Given the description of an element on the screen output the (x, y) to click on. 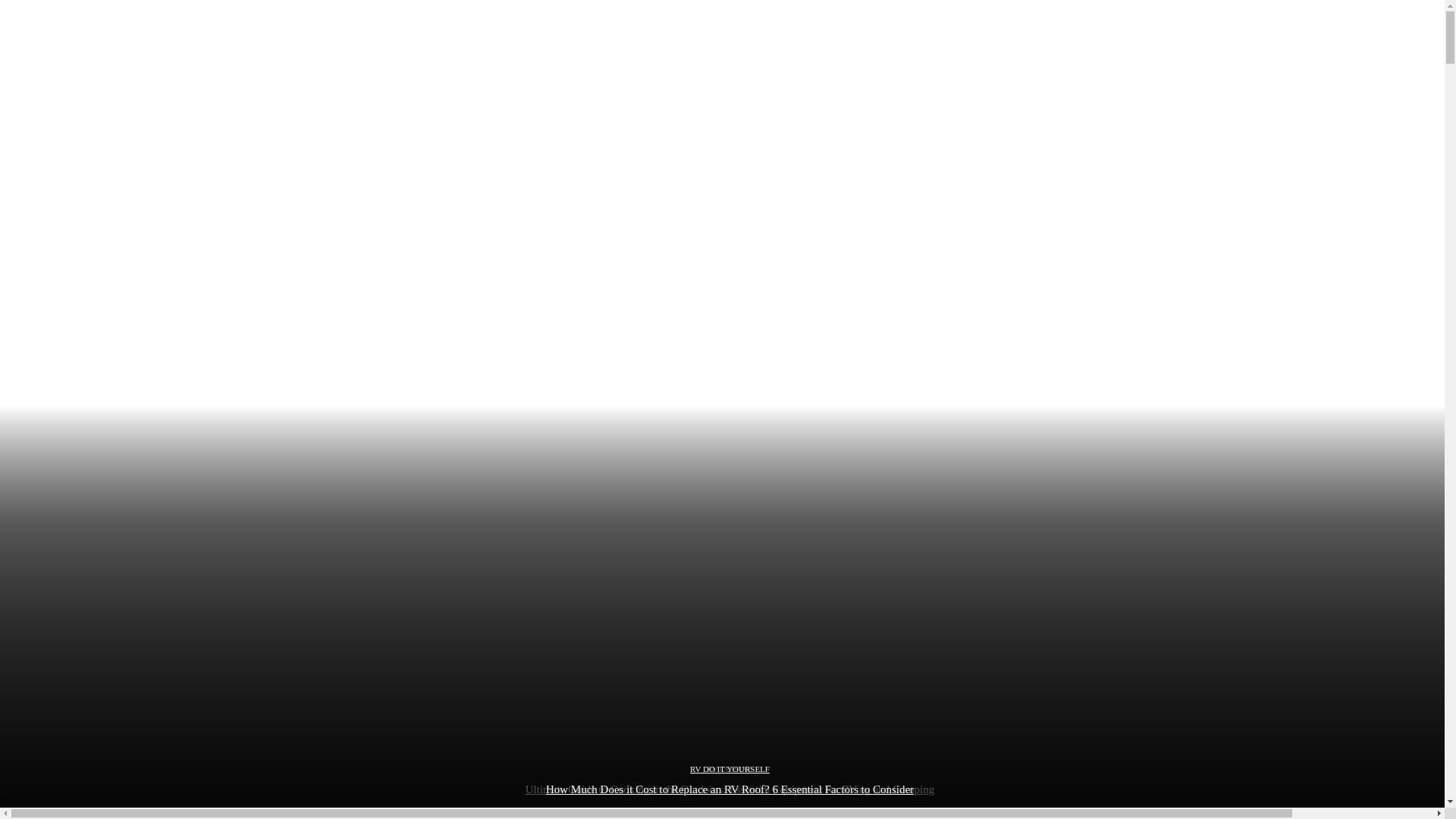
RV Lifestyle Information Blog (721, 799)
RV Lifestyle Information Blog (722, 799)
